Given the description of an element on the screen output the (x, y) to click on. 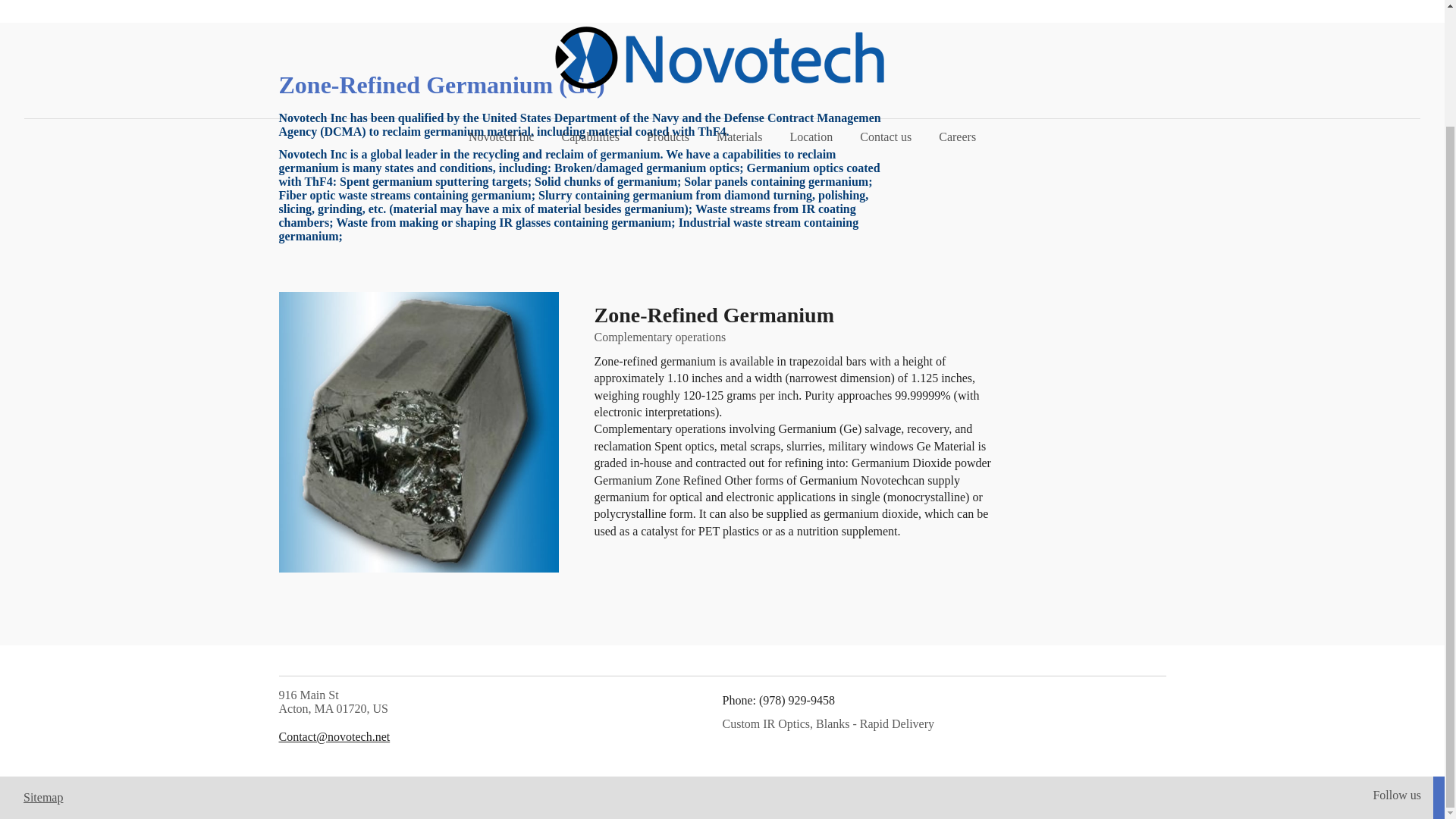
Products (667, 6)
Location (810, 6)
Novotech Inc (502, 6)
Contact us (885, 6)
Capabilities (590, 6)
Materials (739, 6)
Sitemap (42, 797)
Careers (957, 6)
